Given the description of an element on the screen output the (x, y) to click on. 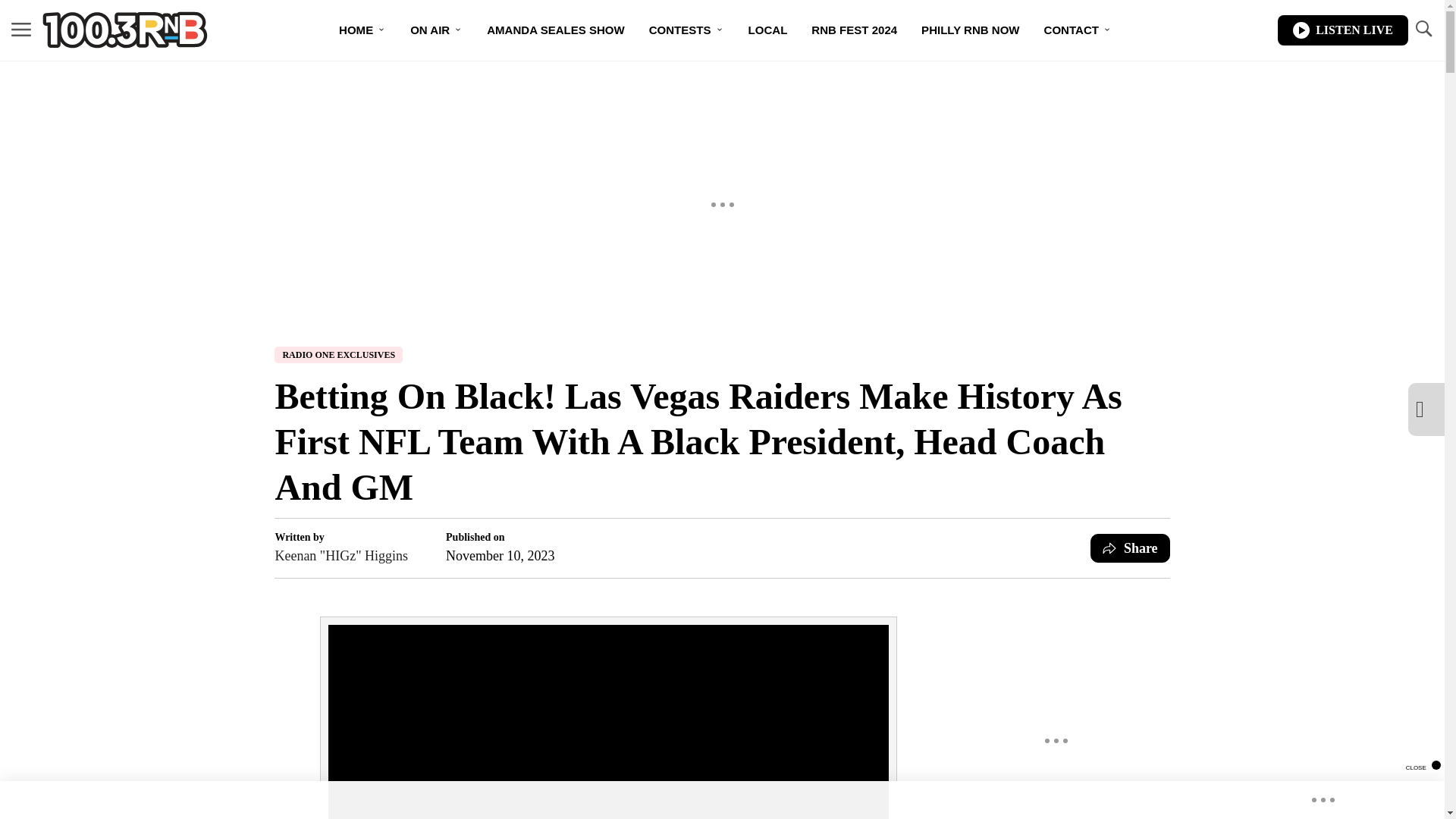
LISTEN LIVE (1342, 30)
LOCAL (767, 30)
ON AIR (435, 30)
MENU (20, 30)
Keenan "HIGz" Higgins (341, 555)
TOGGLE SEARCH (1422, 30)
RADIO ONE EXCLUSIVES (339, 354)
CONTACT (1078, 30)
RNB FEST 2024 (853, 30)
AMANDA SEALES SHOW (555, 30)
